Given the description of an element on the screen output the (x, y) to click on. 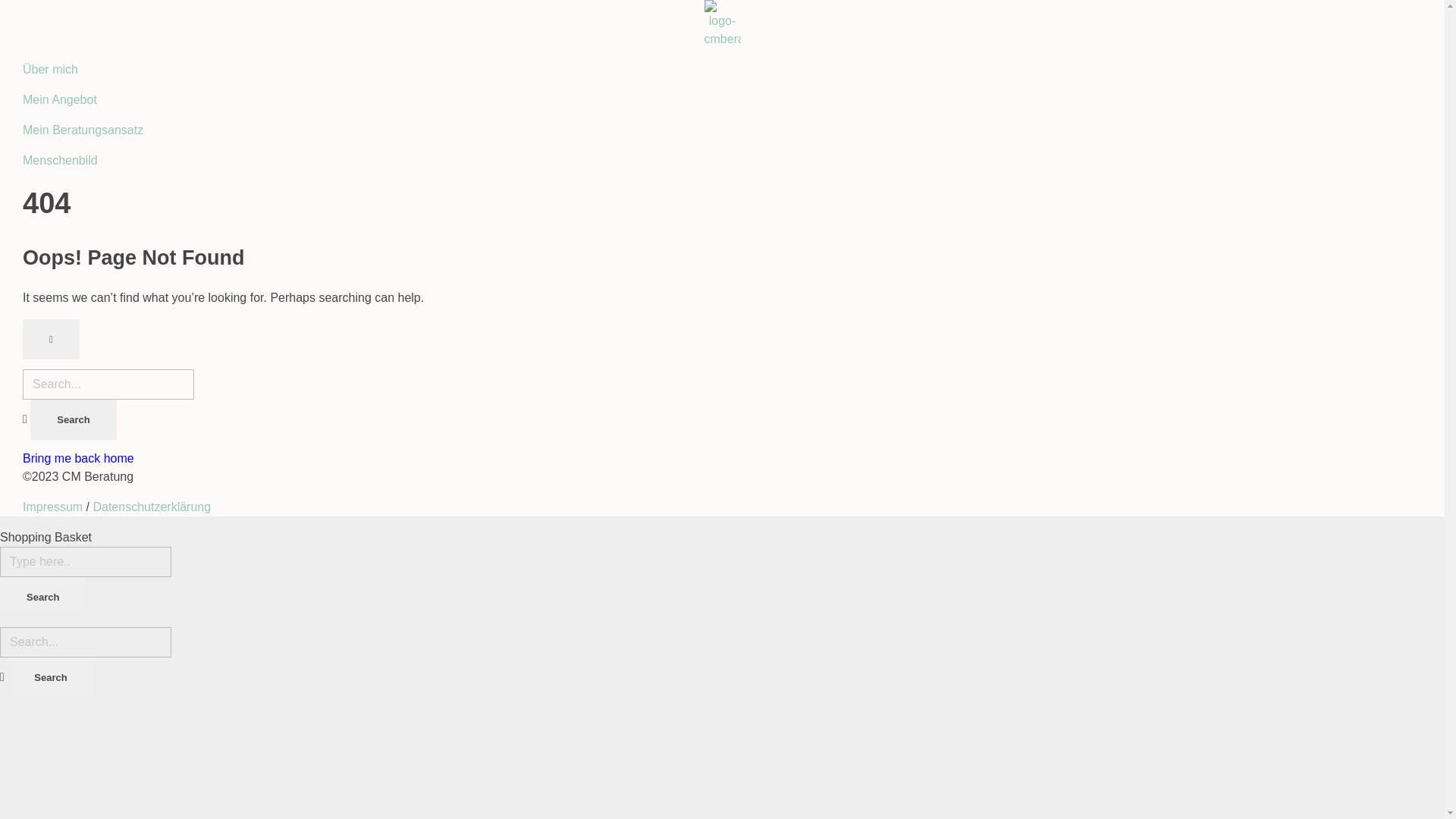
Search Element type: text (50, 677)
Search Element type: text (42, 597)
Mein Beratungsansatz Element type: text (82, 129)
Mein Angebot Element type: text (59, 99)
logo-cmberatung Element type: hover (721, 24)
Search Element type: text (73, 419)
Bring me back home Element type: text (78, 457)
Impressum Element type: text (52, 506)
Menschenbild Element type: text (59, 159)
